Given the description of an element on the screen output the (x, y) to click on. 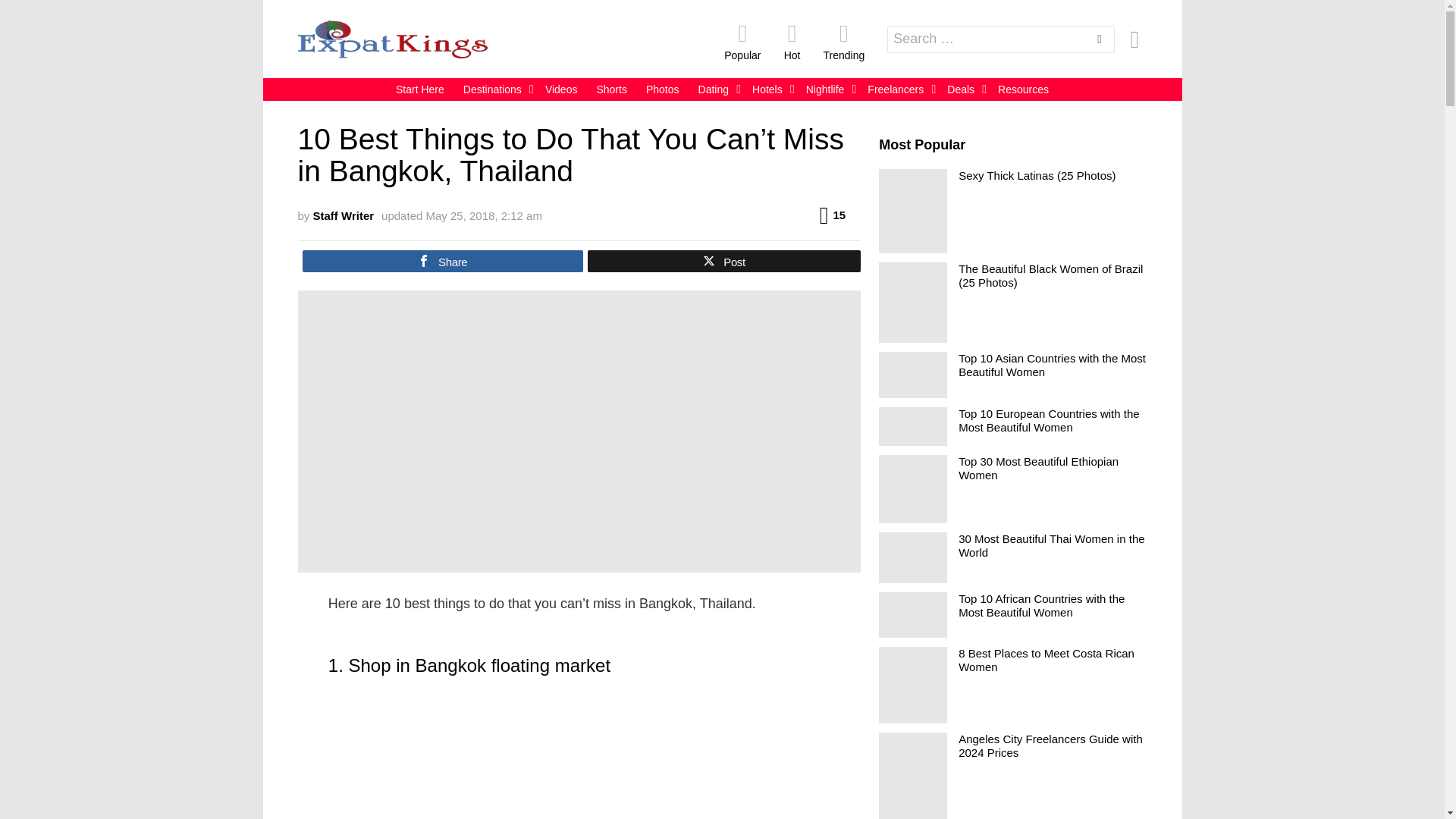
Dating (715, 88)
Popular (742, 41)
Search for: (1000, 39)
Photos (663, 88)
Trending (843, 41)
Destinations (494, 88)
SWITCH SKIN (1134, 39)
Top 10 European Countries with the Most Beautiful Women (913, 426)
Posts by Staff Writer (343, 215)
Shorts (610, 88)
SEARCH (1099, 40)
Hot (792, 41)
Top 10 Asian Countries with the Most Beautiful Women (913, 375)
Videos (561, 88)
Start Here (419, 88)
